Given the description of an element on the screen output the (x, y) to click on. 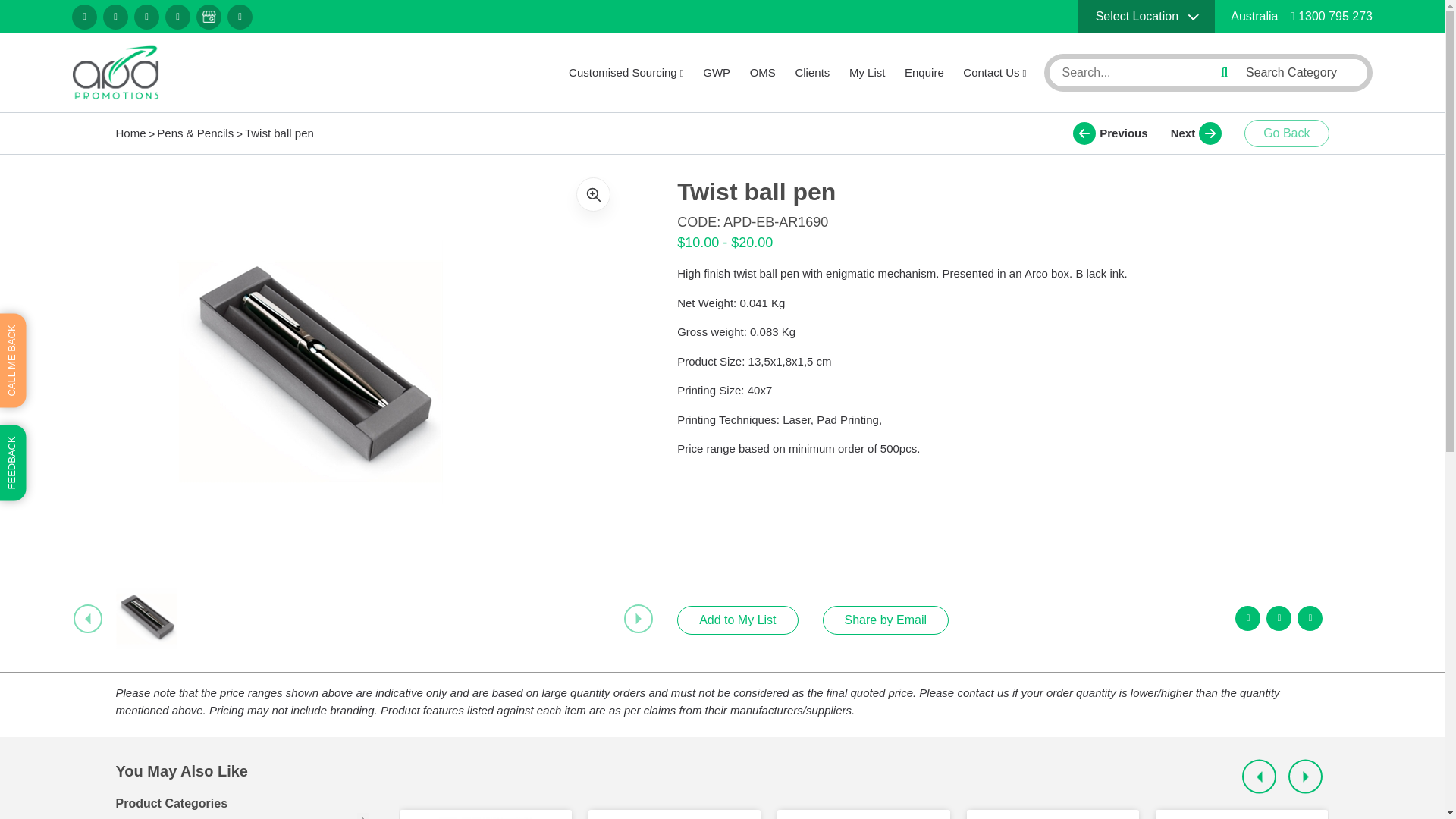
Select Location (1146, 16)
1300 795 273 (1331, 16)
Clients (811, 72)
My List (866, 72)
GWP (716, 72)
Customised Sourcing (626, 72)
OMS (762, 72)
Search Category (1300, 71)
Enquire (923, 72)
Contact Us (994, 72)
